Given the description of an element on the screen output the (x, y) to click on. 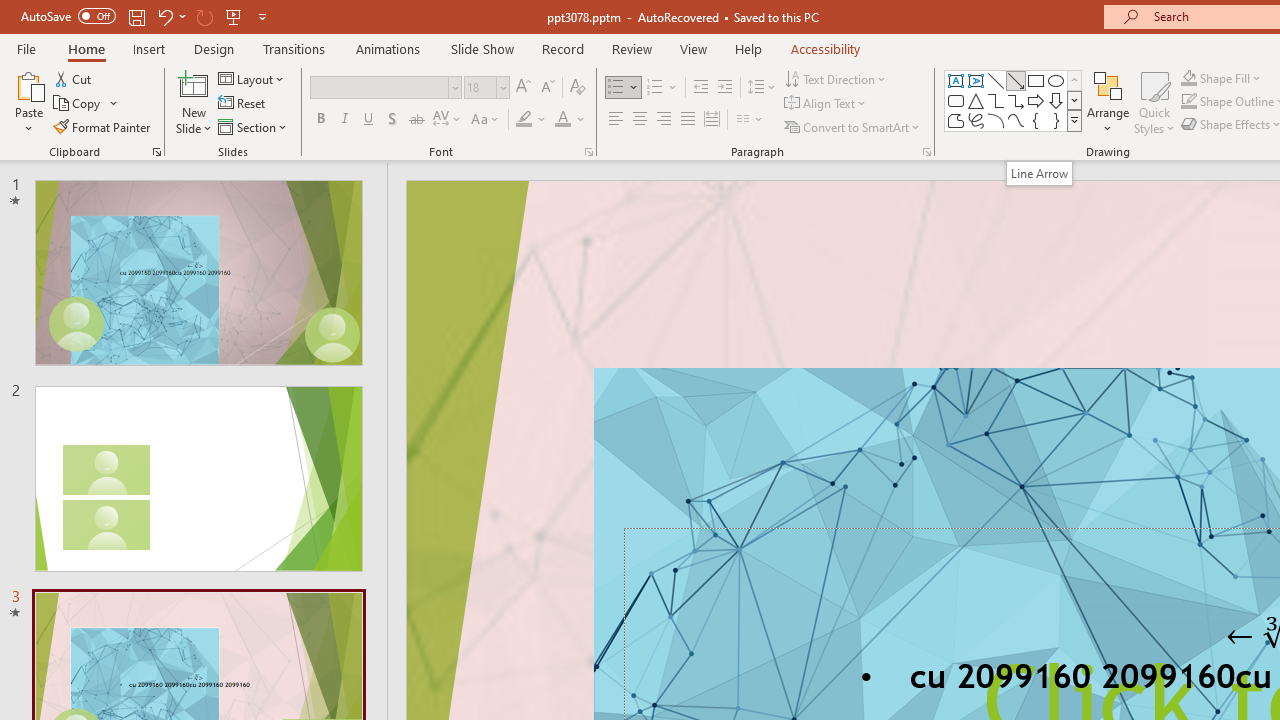
Strikethrough (416, 119)
Align Right (663, 119)
Change Case (486, 119)
Convert to SmartArt (853, 126)
